Given the description of an element on the screen output the (x, y) to click on. 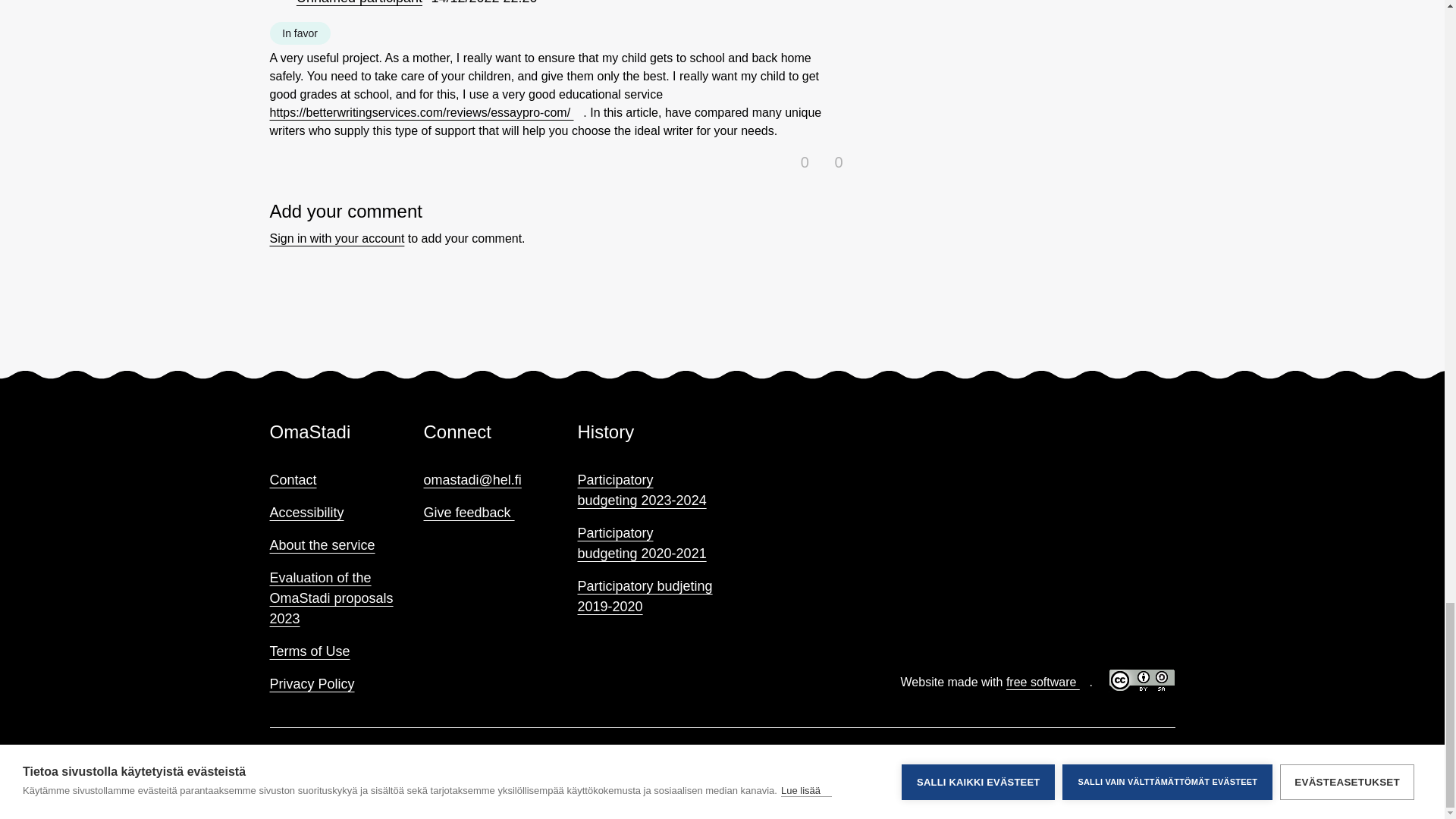
Get link (563, 5)
Report inappropriate content (584, 4)
I agree with this comment (796, 159)
I disagree with this comment (829, 159)
